Given the description of an element on the screen output the (x, y) to click on. 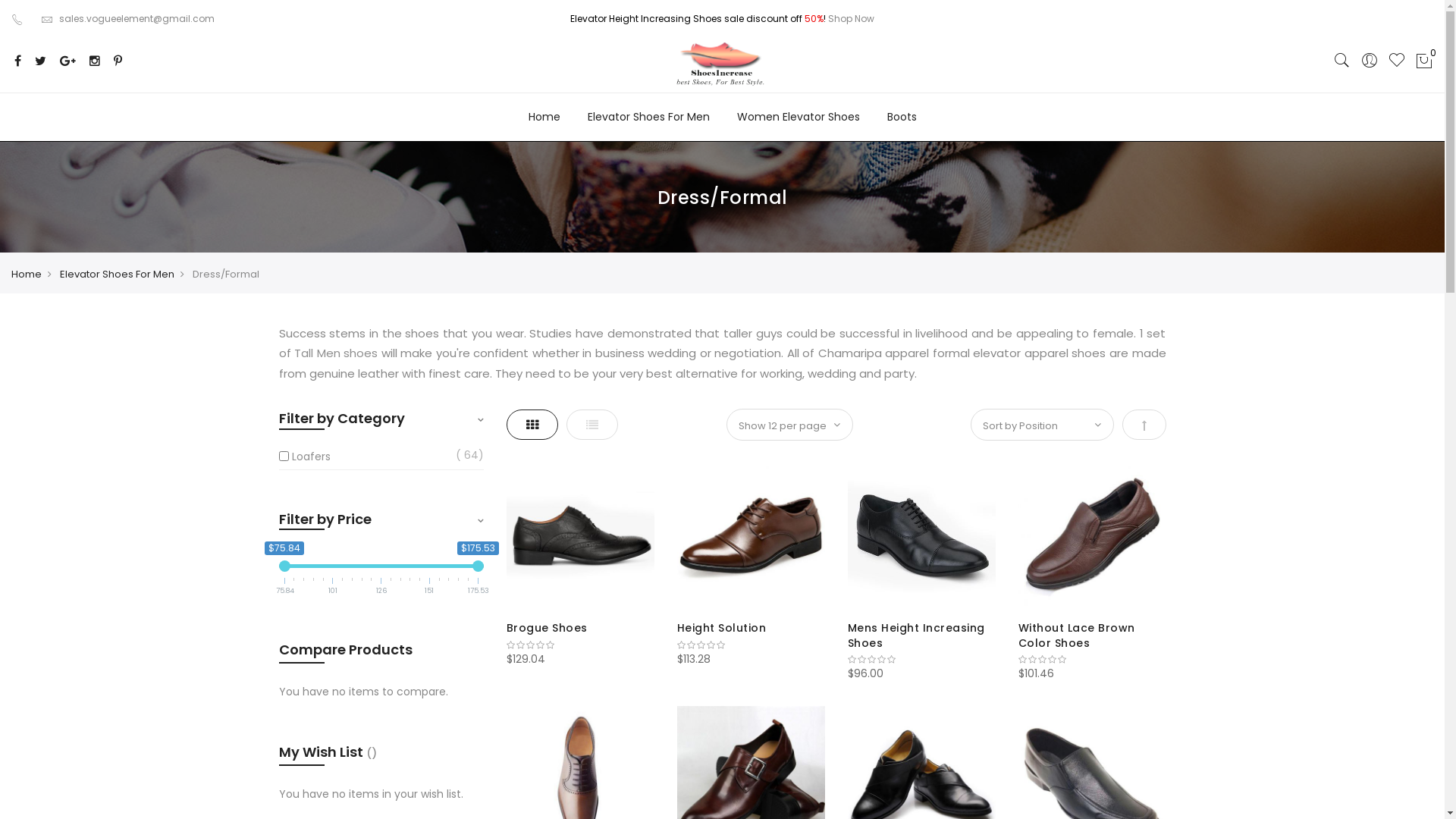
Menu Element type: hover (1153, 28)
